Given the description of an element on the screen output the (x, y) to click on. 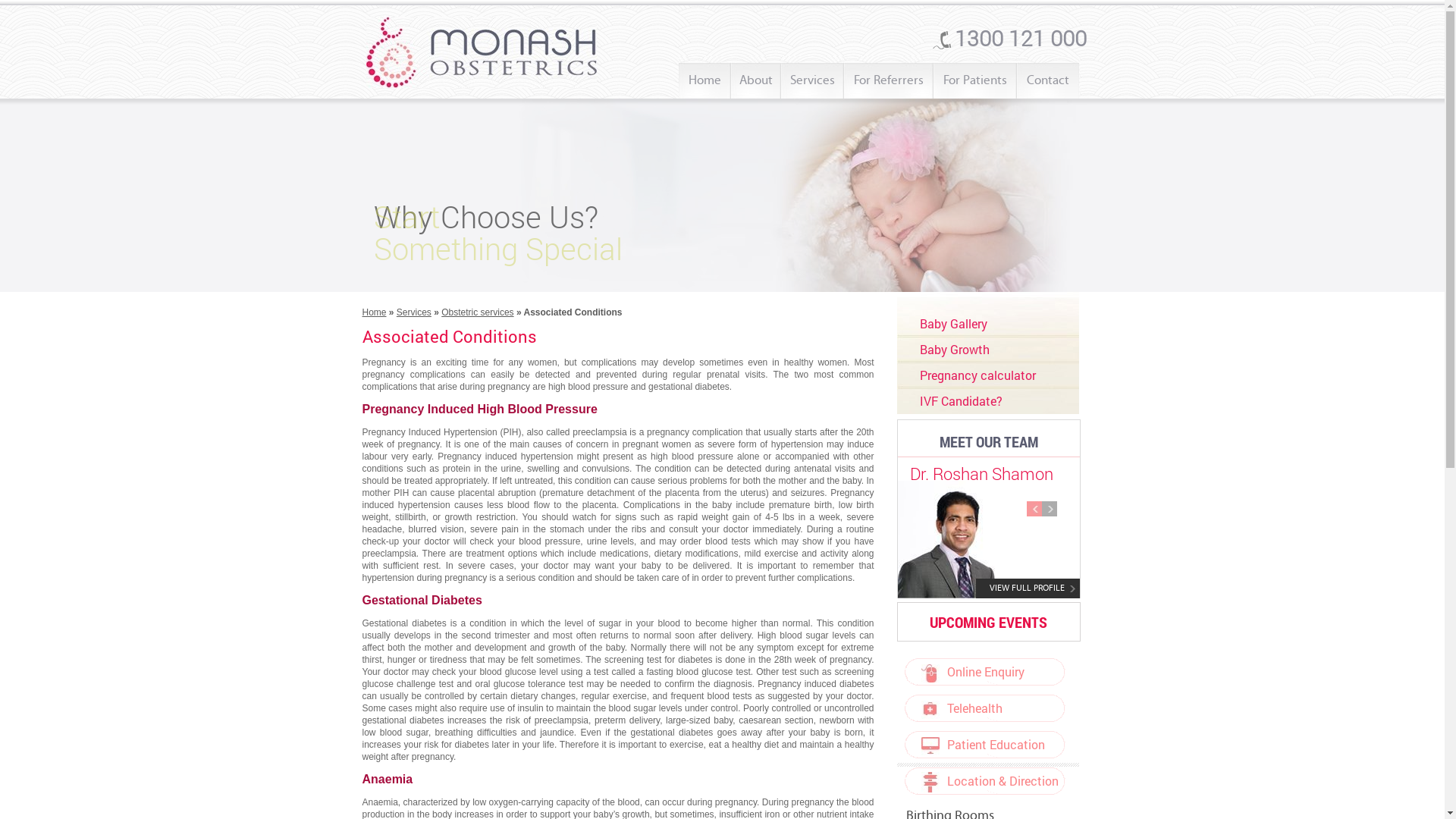
Telehealth Element type: text (952, 707)
Services Element type: text (812, 77)
UPCOMING EVENTS Element type: text (988, 621)
About Element type: text (756, 77)
For Referrers Element type: text (887, 77)
IVF Candidate? Element type: text (960, 400)
Obstetric services Element type: text (477, 312)
Baby Gallery Element type: text (952, 323)
Dr. Roshan Shamon Element type: text (981, 473)
Contact Element type: text (1047, 77)
Online Enquiry Element type: text (963, 671)
Home Element type: text (703, 77)
VIEW FULL PROFILE Element type: text (1026, 587)
Home Element type: text (374, 312)
Baby Growth Element type: text (953, 349)
For Patients Element type: text (974, 77)
MEET OUR TEAM Element type: text (987, 441)
Location & Direction Element type: text (980, 780)
1300 121 000 Element type: text (1009, 38)
Pregnancy calculator Element type: text (977, 374)
Patient Education Element type: text (973, 744)
Services Element type: text (413, 312)
